Given the description of an element on the screen output the (x, y) to click on. 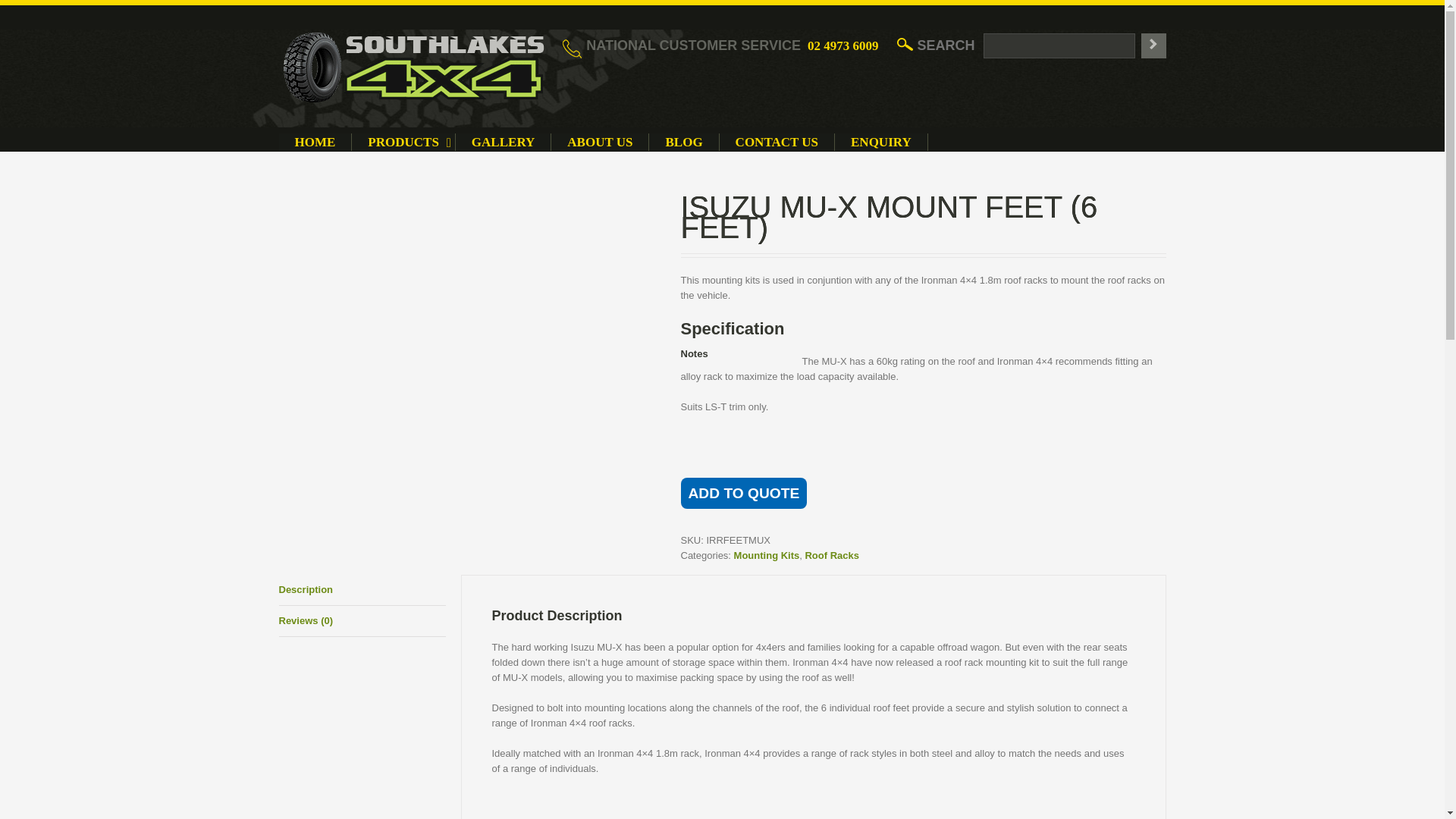
ABOUT US (600, 141)
02 4973 6009 (603, 141)
CONTACT US (843, 45)
Description (776, 141)
Roof Racks (362, 590)
BLOG (832, 555)
ENQUIRY (684, 141)
ADD TO QUOTE (881, 141)
PRODUCTS (744, 492)
HOME (403, 141)
Mounting Kits (315, 141)
GALLERY (766, 555)
